Given the description of an element on the screen output the (x, y) to click on. 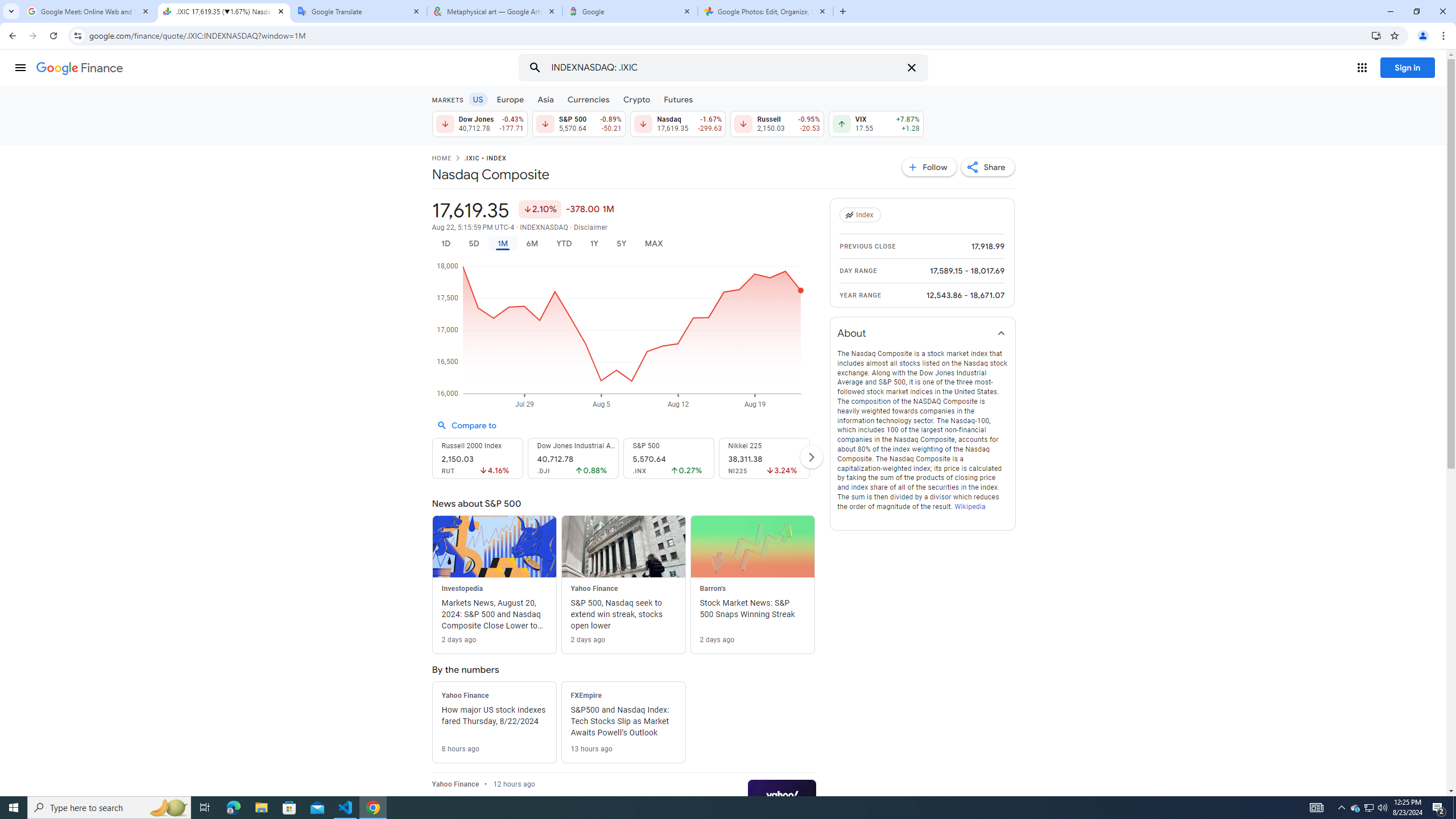
Search for stocks, ETFs & more (724, 67)
Asia (545, 99)
Finance (79, 68)
Wikipedia (969, 506)
5Y (621, 243)
1M (501, 243)
Google (630, 11)
1D (445, 243)
